Given the description of an element on the screen output the (x, y) to click on. 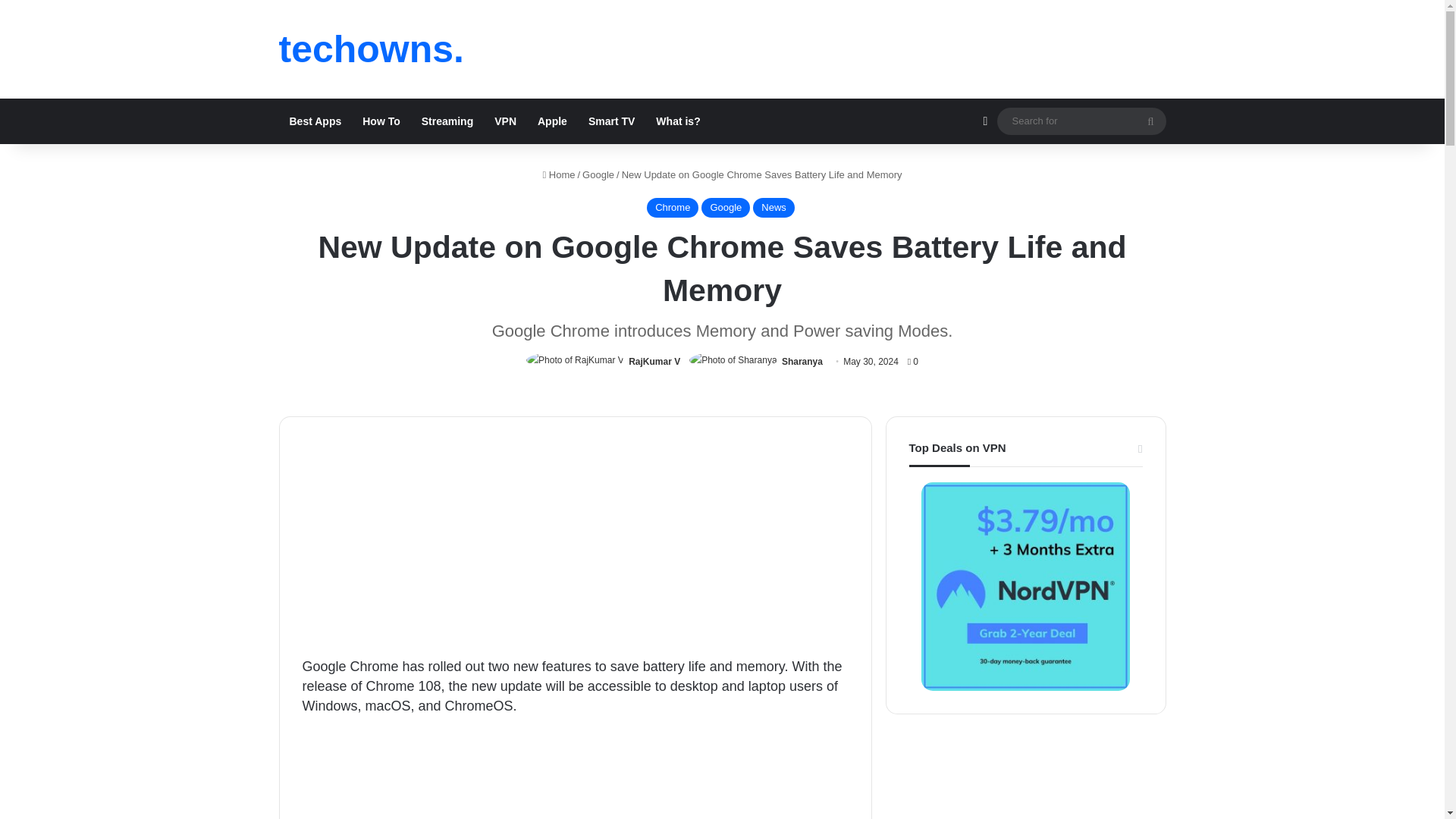
Google (598, 174)
Search for (1150, 121)
Advertisement (574, 776)
Advertisement (574, 544)
VPN (505, 121)
Streaming (446, 121)
RajKumar V (653, 361)
Google (725, 207)
RajKumar V (653, 361)
How To (381, 121)
techowns. (371, 48)
Best Apps (315, 121)
techowns. (371, 48)
Sharanya (801, 361)
News (773, 207)
